Given the description of an element on the screen output the (x, y) to click on. 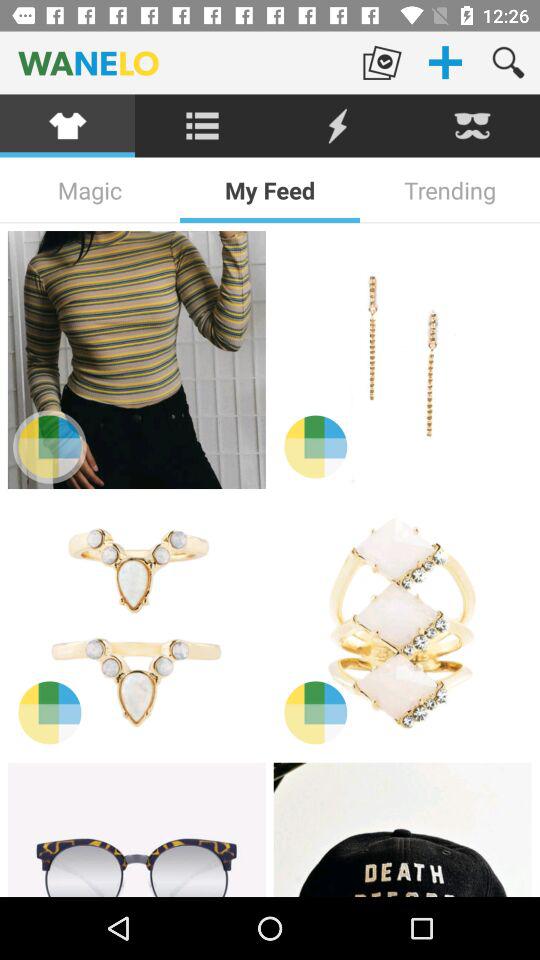
open item below the wanelo (337, 125)
